Given the description of an element on the screen output the (x, y) to click on. 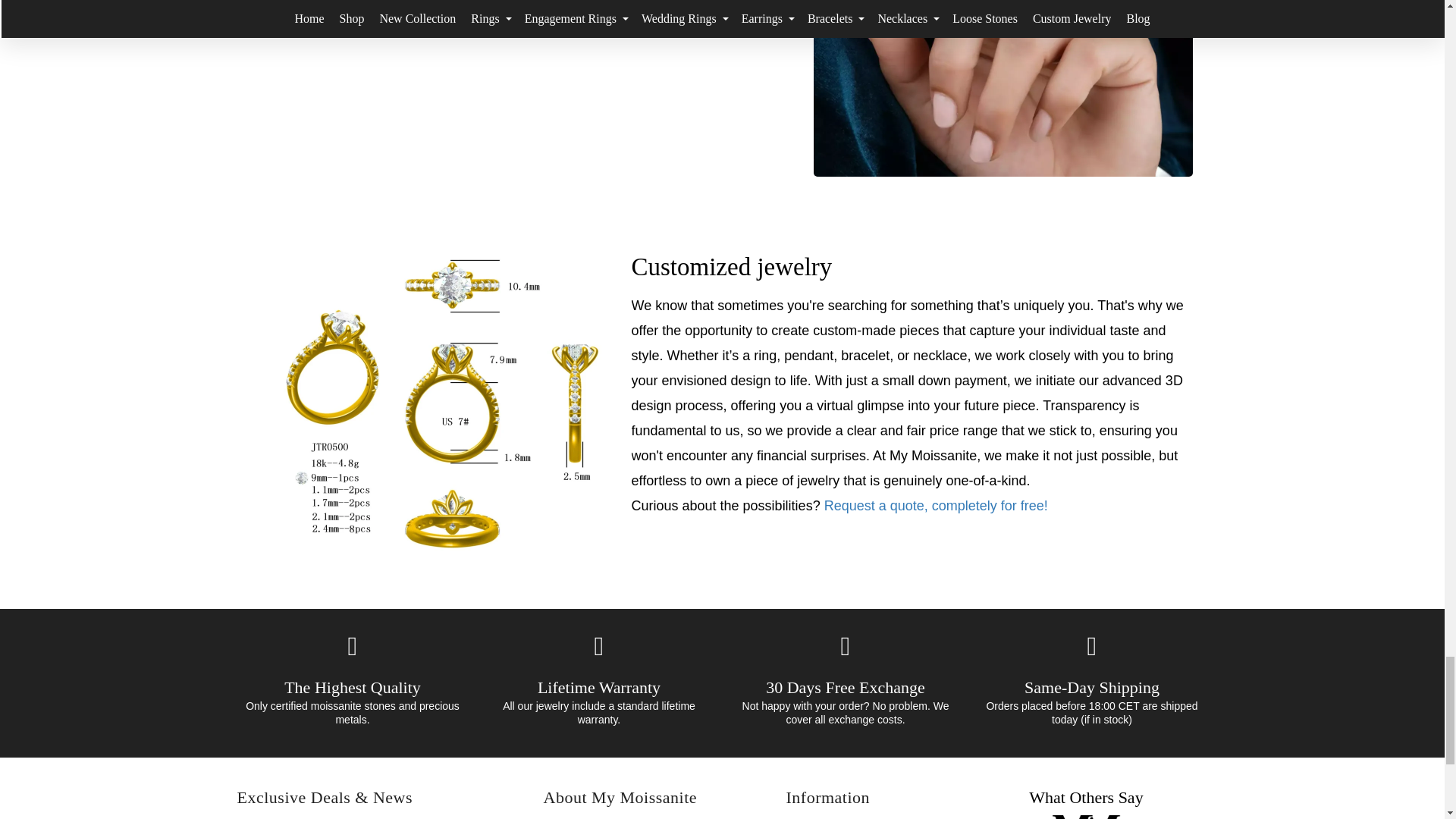
4.9 67 reviews (1085, 813)
